Given the description of an element on the screen output the (x, y) to click on. 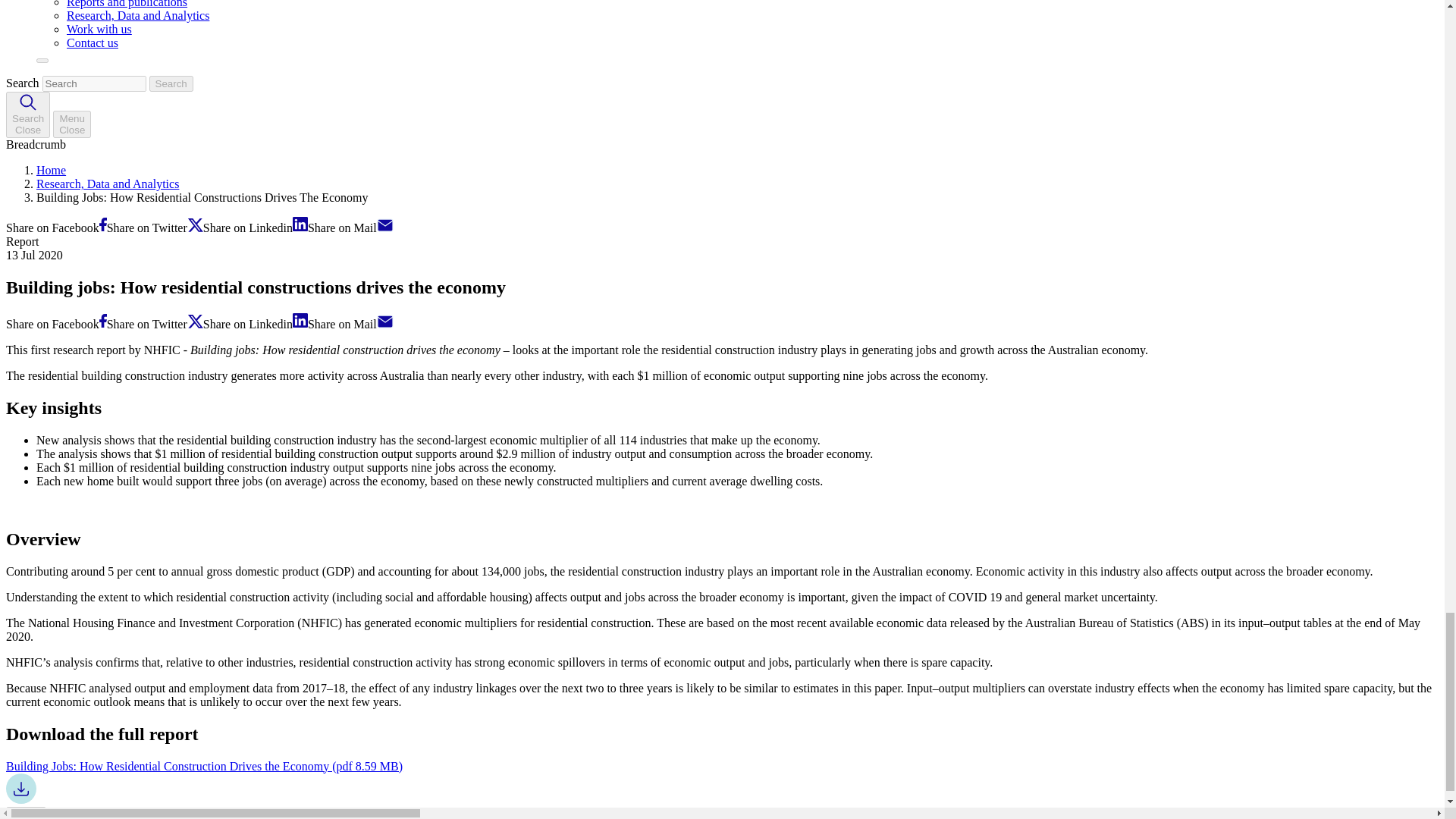
Close mega menu (42, 60)
Enter the terms you wish to search for. (94, 83)
Search (171, 83)
Go to Research, Data and Analytics page (107, 183)
Go to Home page (50, 169)
Toggle the menu (71, 124)
Search the website (27, 114)
